Given the description of an element on the screen output the (x, y) to click on. 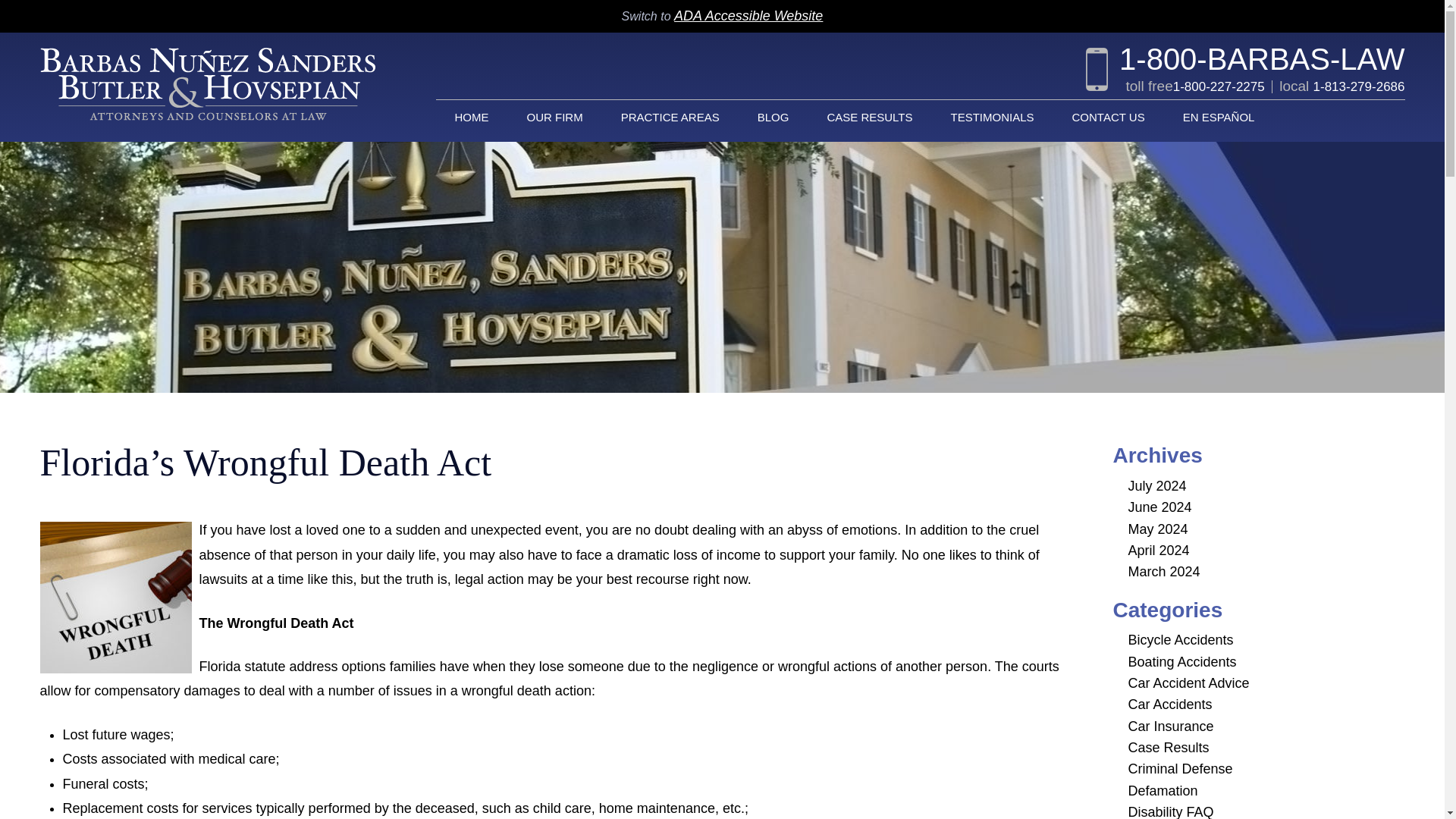
1-800-227-2275 (1219, 86)
ADA Accessible Website (748, 15)
1-813-279-2686 (1359, 86)
1-800-BARBAS-LAW (1245, 61)
Tampa Workers Compensation Lawyer (206, 83)
OUR FIRM (555, 116)
PRACTICE AREAS (670, 116)
WrongfulDeath3 (114, 597)
HOME (470, 116)
